Given the description of an element on the screen output the (x, y) to click on. 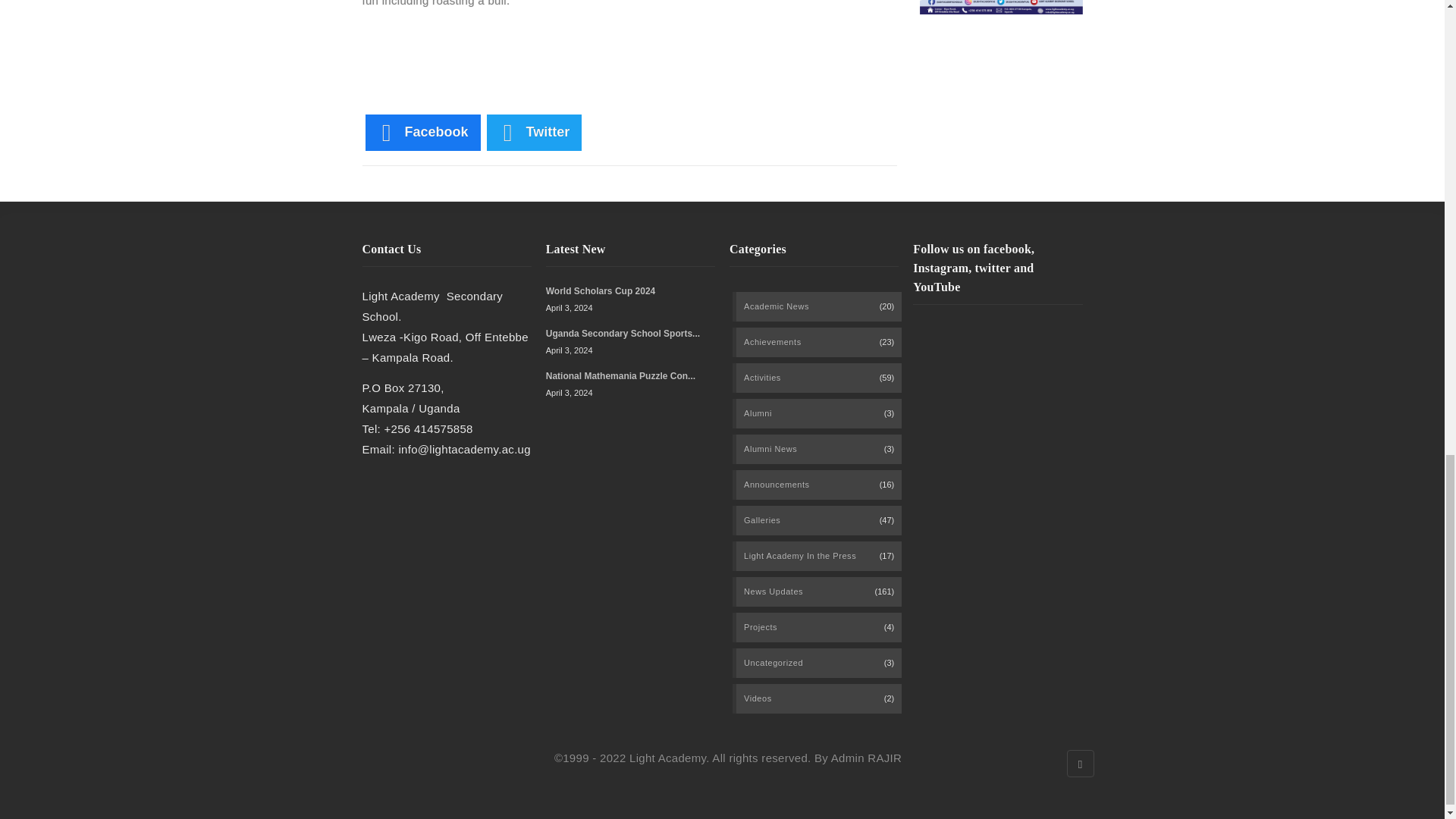
Share this article on Twitter (534, 132)
Share this article on Facebook (422, 132)
